Given the description of an element on the screen output the (x, y) to click on. 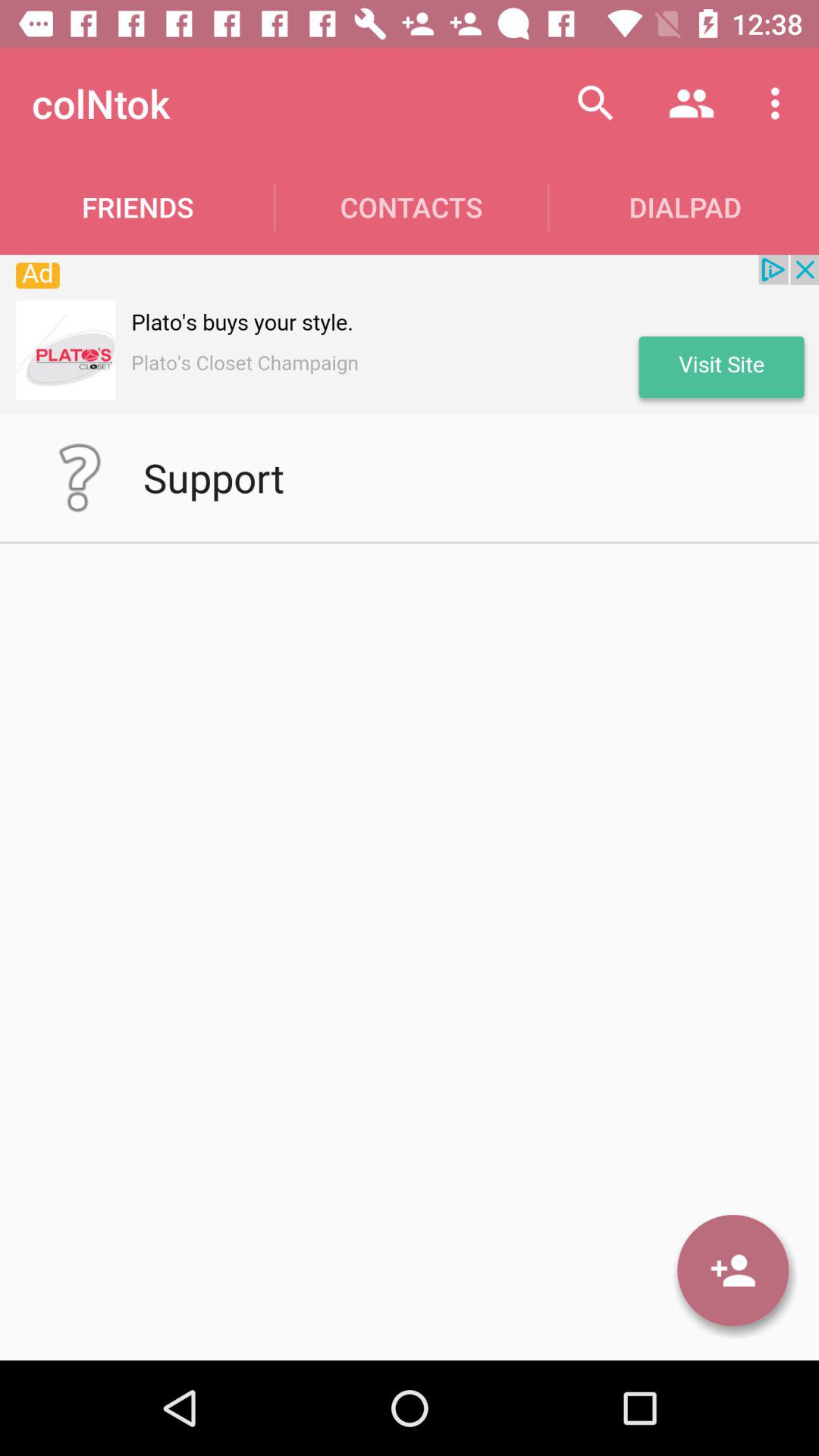
go to help details page (79, 477)
